Given the description of an element on the screen output the (x, y) to click on. 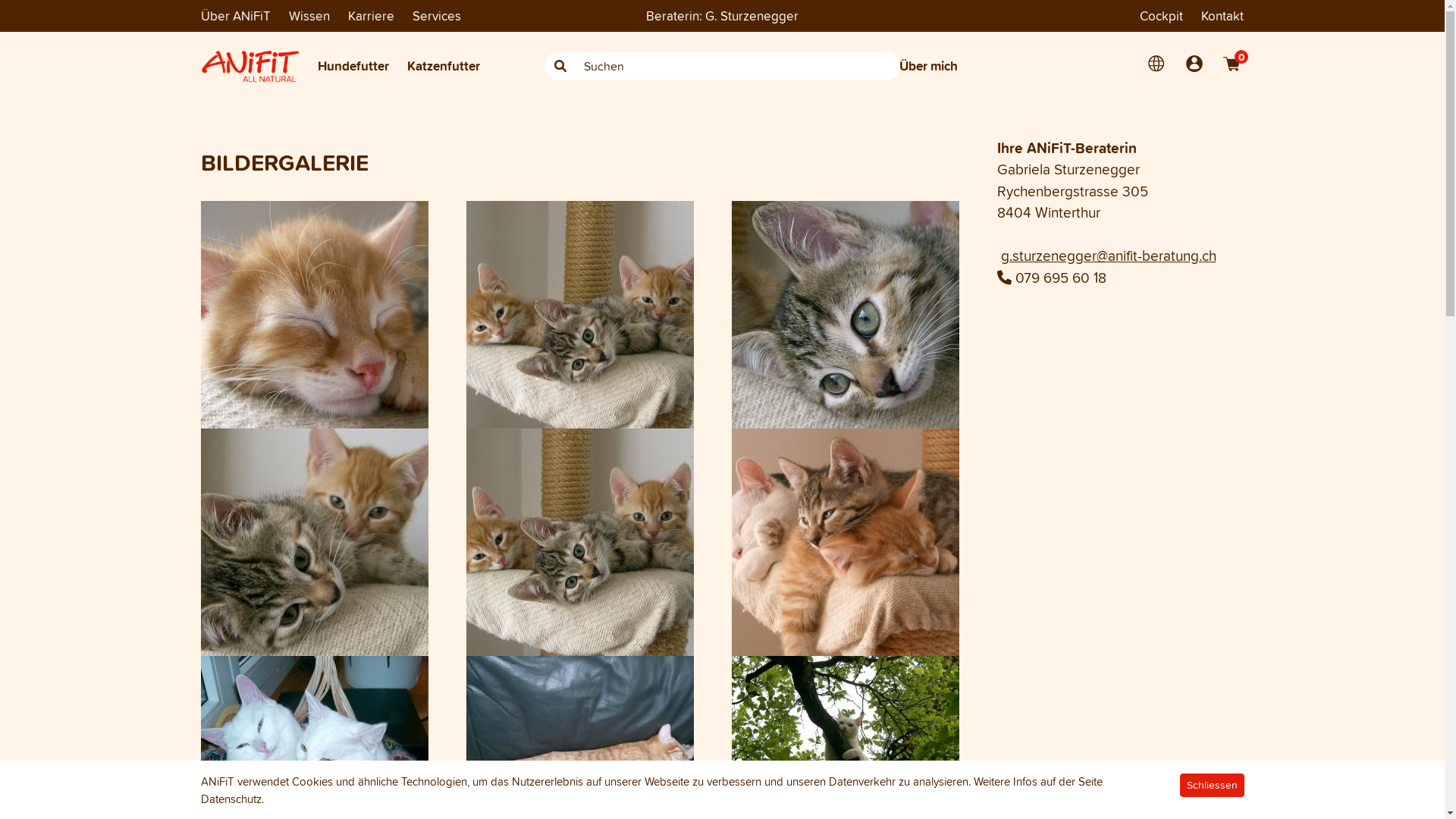
Hundefutter Element type: text (352, 65)
g.sturzenegger@anifit-beratung.ch Element type: text (1108, 255)
Karriere Element type: text (370, 15)
Schliessen Element type: text (1211, 785)
Kontakt Element type: text (1222, 15)
Wissen Element type: text (308, 15)
Services Element type: text (436, 15)
Cockpit Element type: text (1161, 15)
Katzenfutter Element type: text (442, 65)
0 Element type: text (1230, 63)
Datenschutz Element type: text (230, 798)
